Given the description of an element on the screen output the (x, y) to click on. 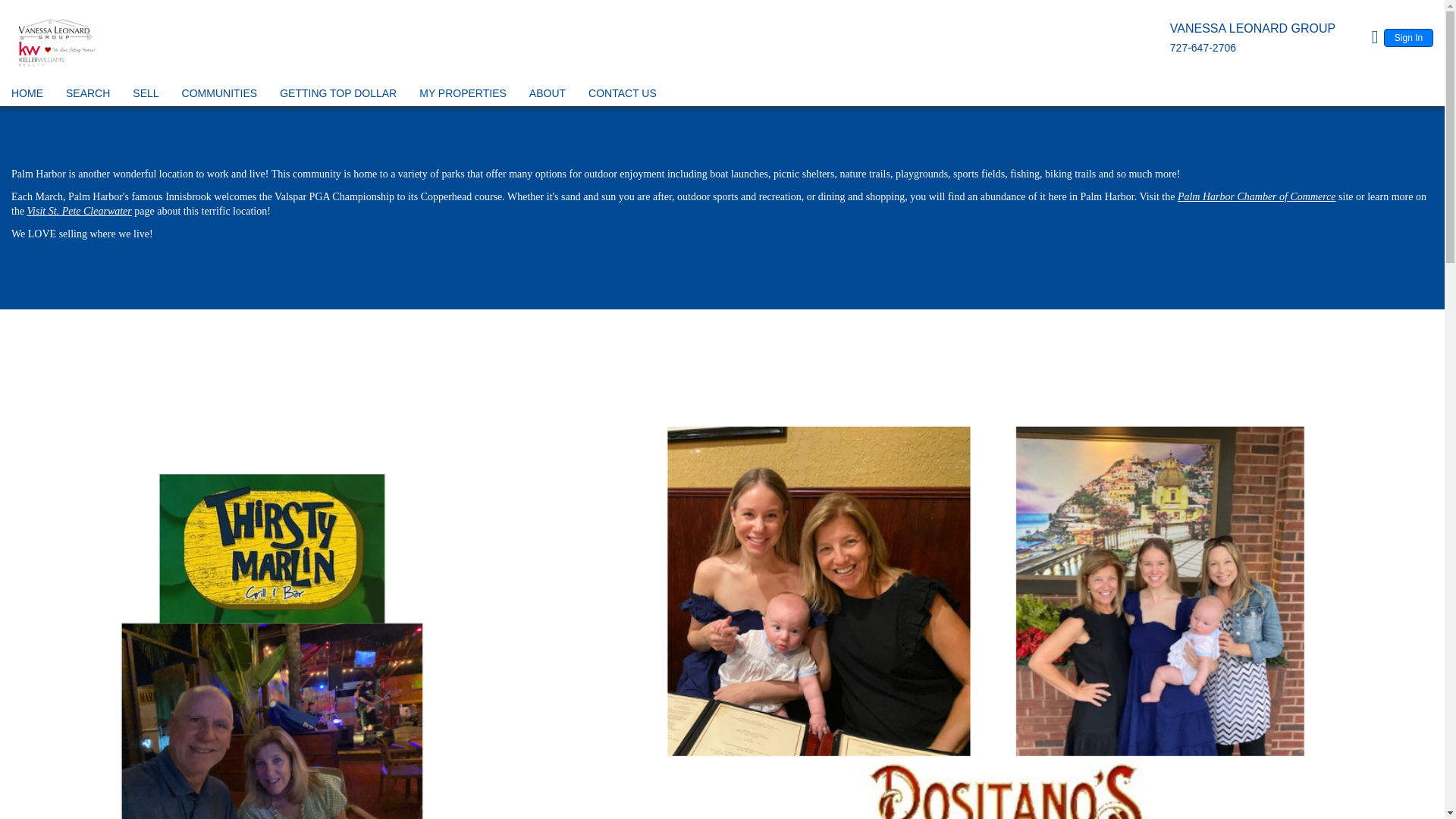
COMMUNITIES (219, 95)
Visit St. Pete Clearwater (79, 211)
727-647-2706 (1203, 47)
Sign In (1408, 37)
MY PROPERTIES (462, 95)
CONTACT US (623, 95)
SEARCH (87, 95)
SELL (145, 95)
HOME (26, 95)
GETTING TOP DOLLAR (338, 95)
Palm Harbor Chamber of Commerce (1256, 196)
ABOUT (547, 95)
